Given the description of an element on the screen output the (x, y) to click on. 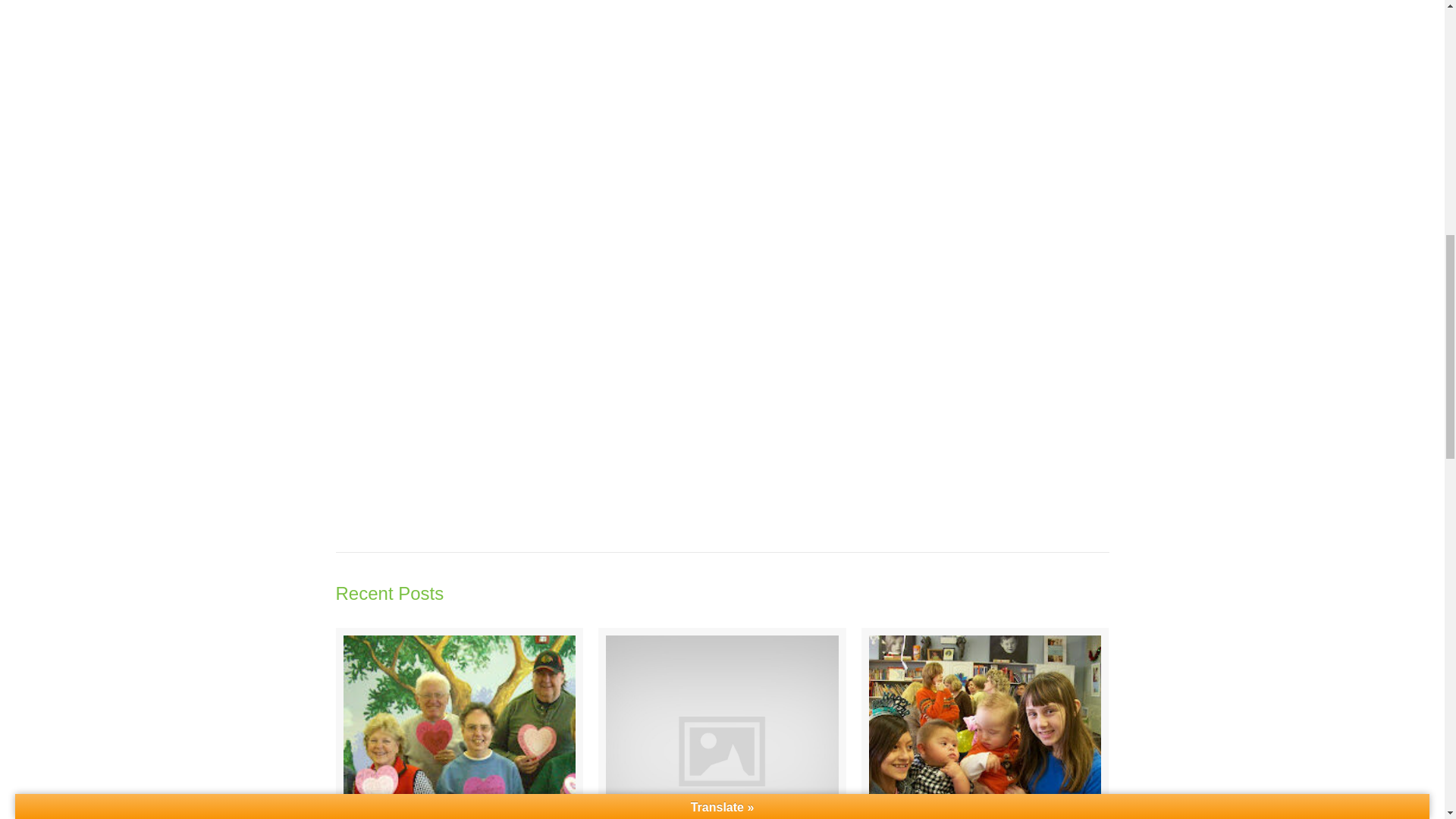
Valentines for our Volunteers! (458, 723)
Family Fun Night (721, 723)
Thank You, Troop 399! (985, 723)
